Given the description of an element on the screen output the (x, y) to click on. 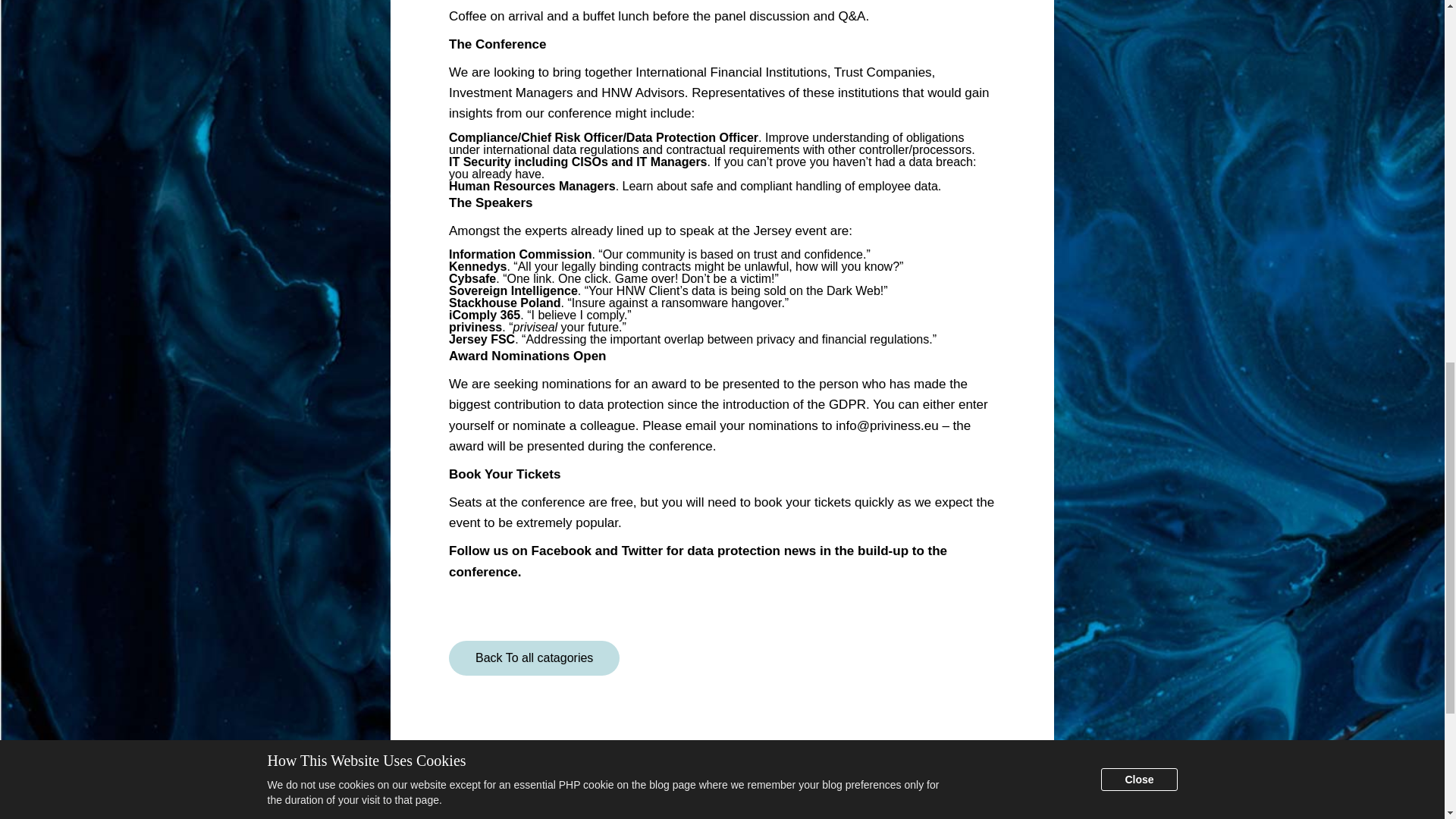
Twitter (641, 550)
Facebook (561, 550)
Back to All Catagoties (534, 657)
Back To all catagories (534, 657)
book your tickets (802, 502)
